Given the description of an element on the screen output the (x, y) to click on. 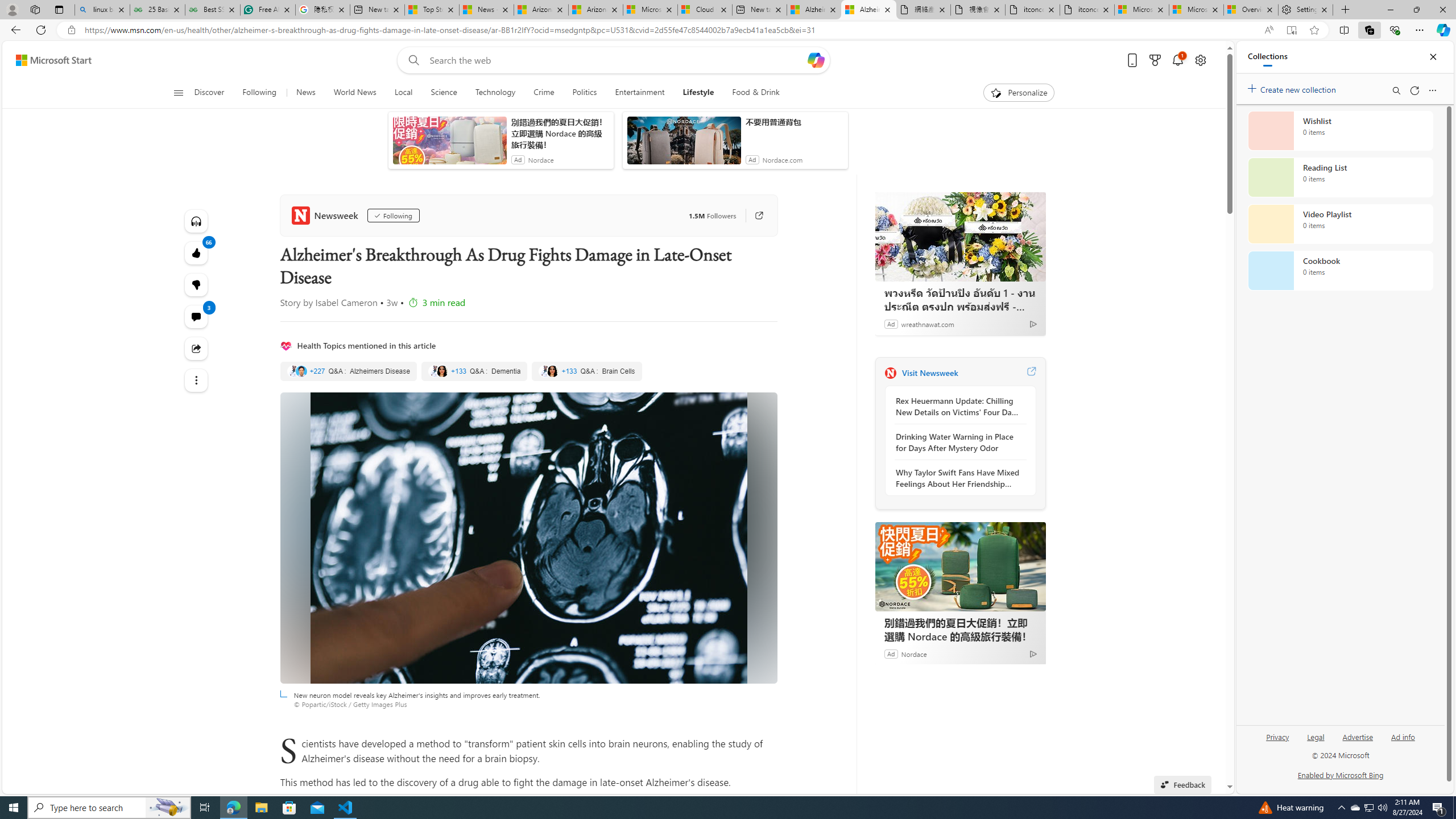
Class: at-item (196, 380)
